Given the description of an element on the screen output the (x, y) to click on. 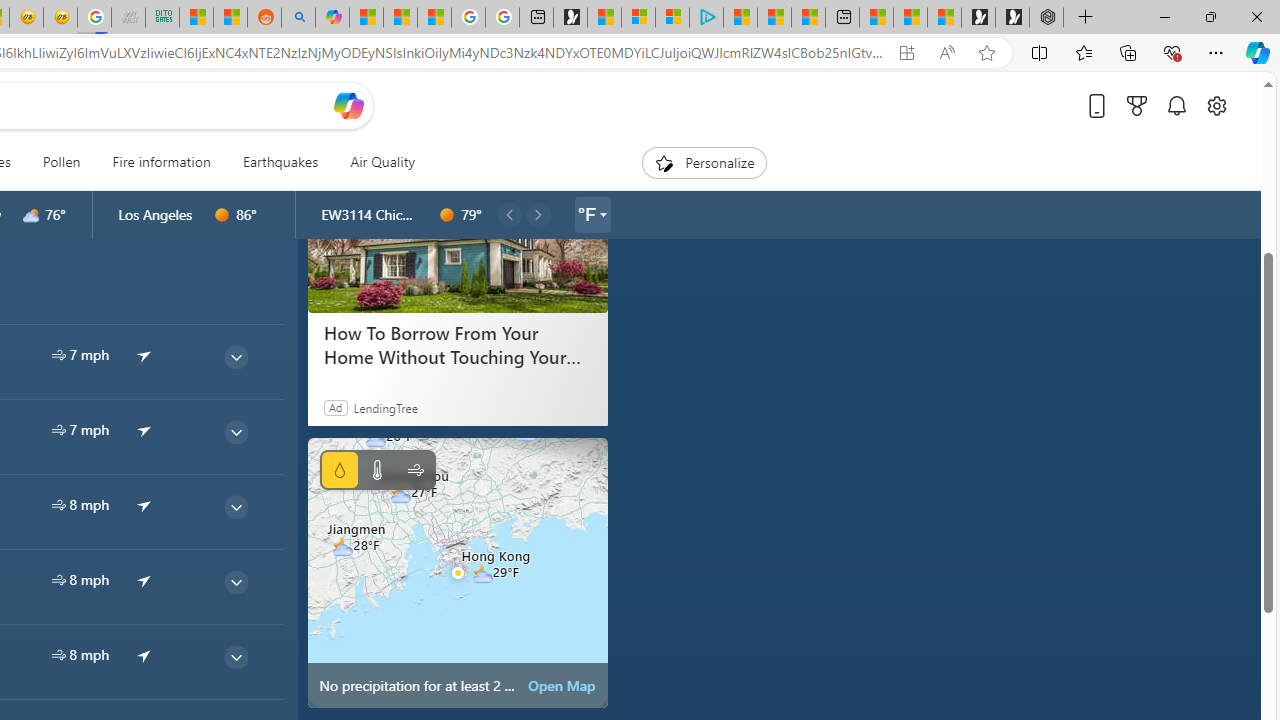
Personalize (703, 162)
Earthquakes (280, 162)
Wind (414, 470)
Utah sues federal government - Search (297, 17)
common/thinArrow (235, 656)
d0000 (447, 215)
